Given the description of an element on the screen output the (x, y) to click on. 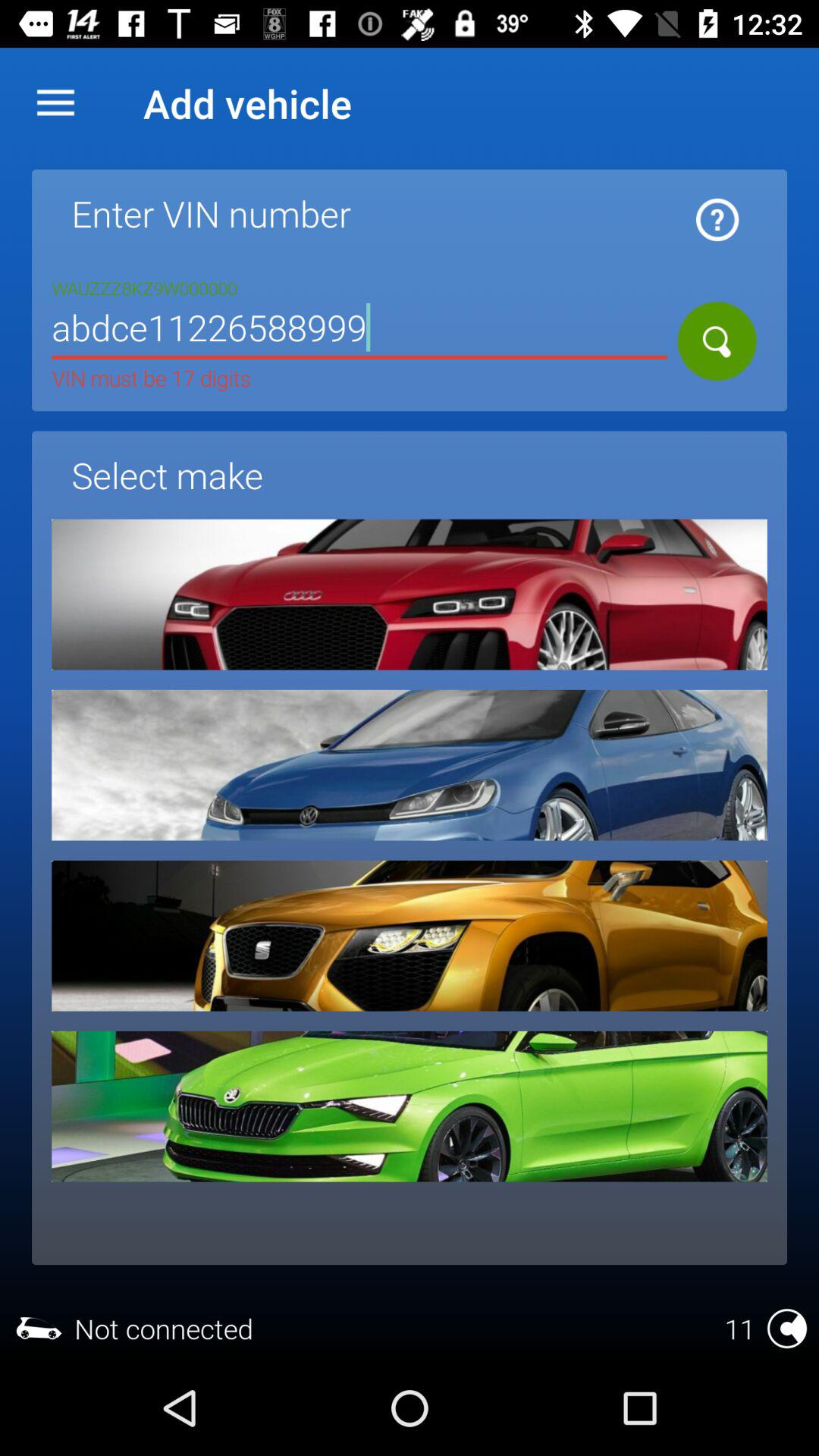
press the item above enter vin number icon (55, 103)
